Given the description of an element on the screen output the (x, y) to click on. 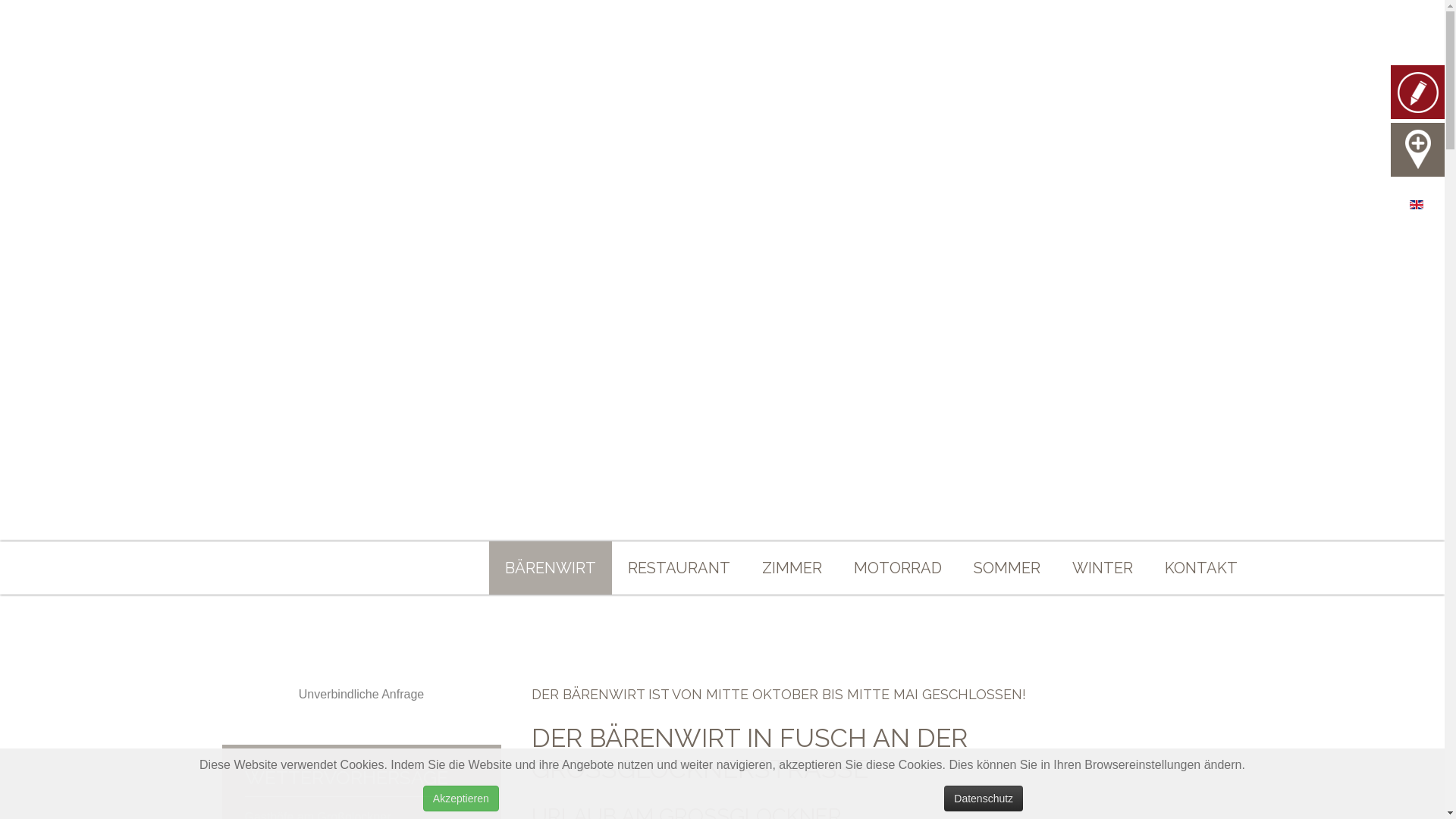
Akzeptieren Element type: text (460, 798)
SOMMER Element type: text (1006, 567)
English (UK) Element type: hover (1416, 204)
RESTAURANT Element type: text (678, 567)
Datenschutz Element type: text (983, 798)
WINTER Element type: text (1101, 567)
MOTORRAD Element type: text (897, 567)
ZIMMER Element type: text (791, 567)
KONTAKT Element type: text (1200, 567)
